Given the description of an element on the screen output the (x, y) to click on. 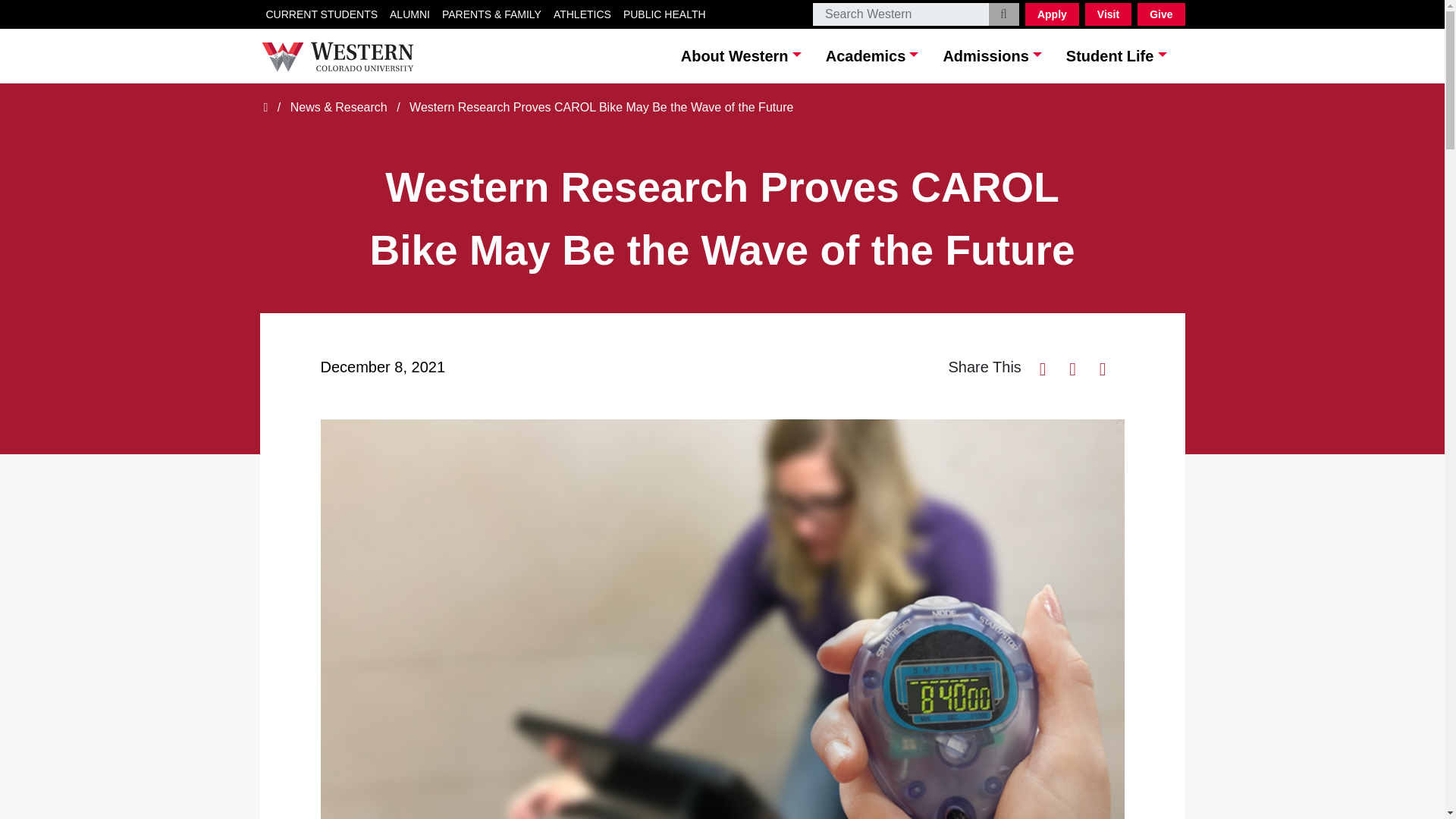
Give (1161, 14)
Western Colorado University (336, 57)
Academics (871, 55)
PUBLIC HEALTH (664, 13)
Search (1003, 14)
Search (900, 14)
CURRENT STUDENTS (321, 13)
About Western (741, 55)
Visit (1107, 14)
7:00 am (382, 366)
